Given the description of an element on the screen output the (x, y) to click on. 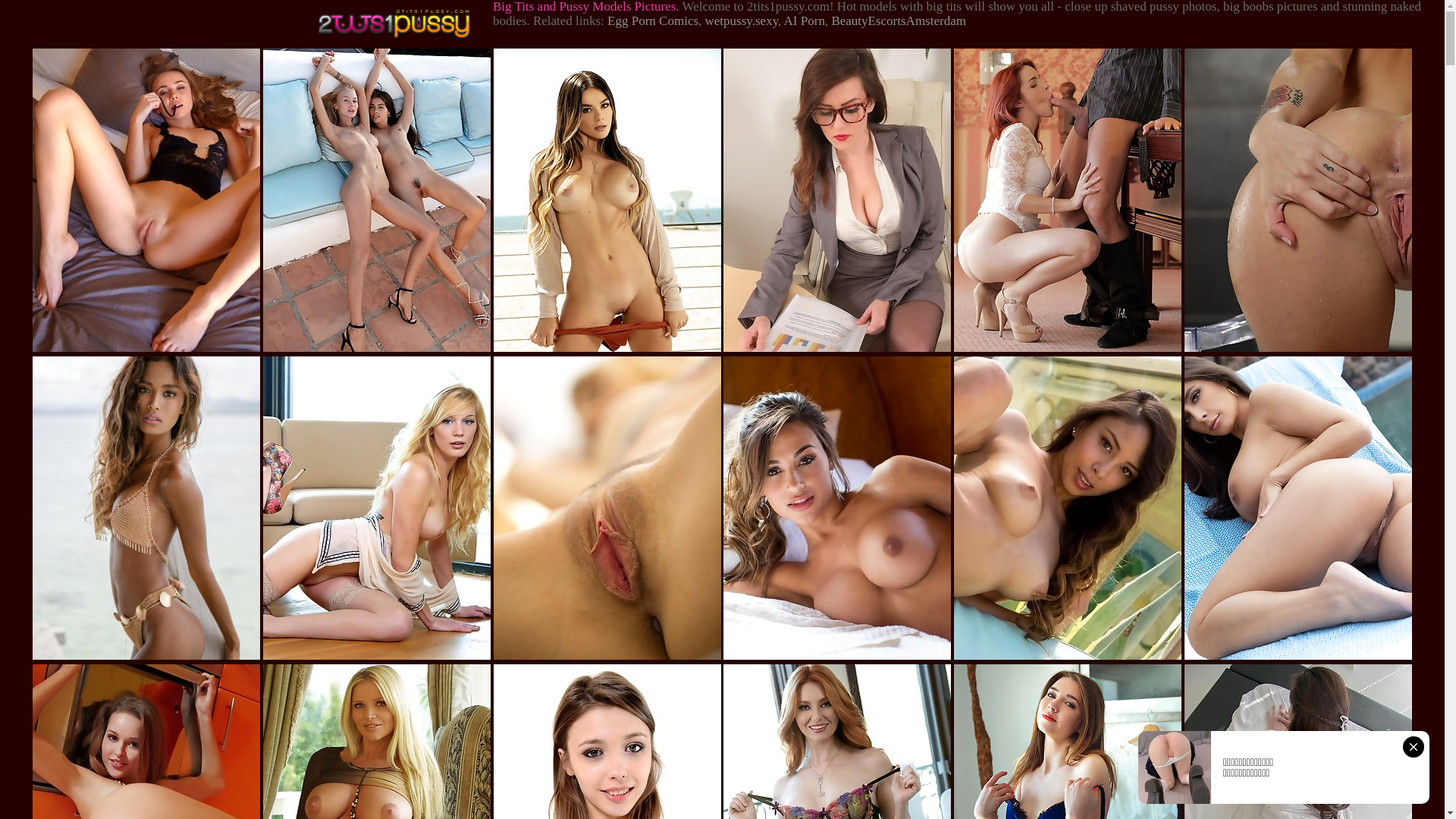
AI Porn Element type: text (804, 20)
Egg Porn Comics Element type: text (652, 20)
Alexis Love is cute, lean, and... Element type: hover (1067, 657)
wetpussy.sexy Element type: text (741, 20)
Playmate Miss October 2015 Element type: hover (836, 657)
Alissa Foxy and Nancy A sent... Element type: hover (376, 349)
This month we welcome Sin... Element type: hover (607, 349)
The fair Hayden won't stop... Element type: hover (376, 657)
Horny redhead Amarna Miller... Element type: hover (1067, 349)
BeautyEscortsAmsterdam Element type: text (898, 20)
strips off her panties Element type: hover (607, 657)
"Sexy specced brunette in... Element type: hover (836, 349)
Sexy brunette Silvia laps up her... Element type: hover (1298, 349)
